Given the description of an element on the screen output the (x, y) to click on. 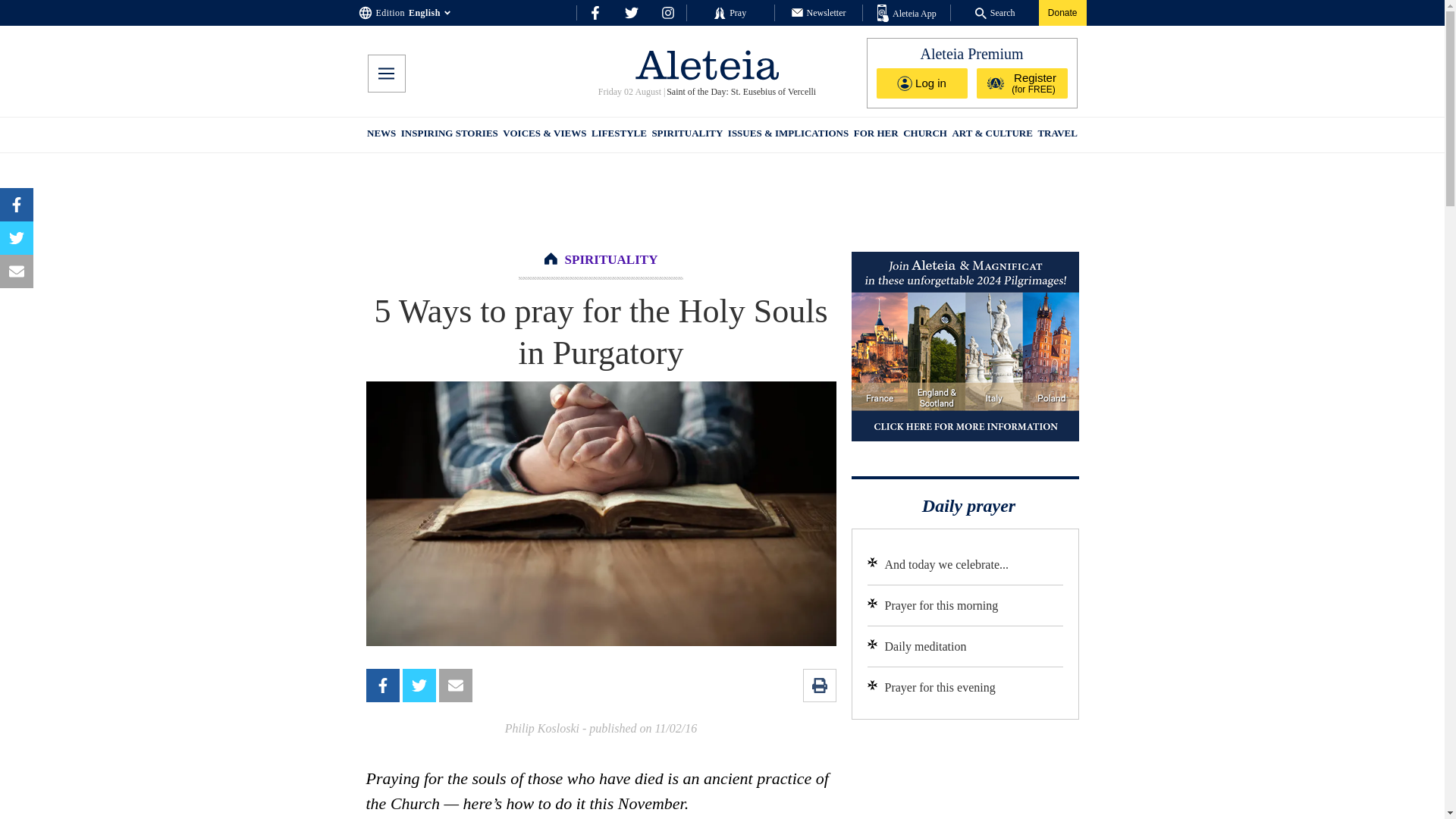
Saint of the Day: St. Eusebius of Vercelli (740, 91)
Pray (729, 12)
Aleteia App (906, 13)
INSPIRING STORIES (449, 134)
Newsletter (818, 12)
social-fb-top-row (595, 12)
FOR HER (875, 134)
Donate (1062, 12)
Log in (922, 82)
Philip Kosloski (542, 727)
social-tw-top-row (631, 12)
Search (994, 12)
TRAVEL (1056, 134)
SPIRITUALITY (611, 259)
CHURCH (924, 134)
